Given the description of an element on the screen output the (x, y) to click on. 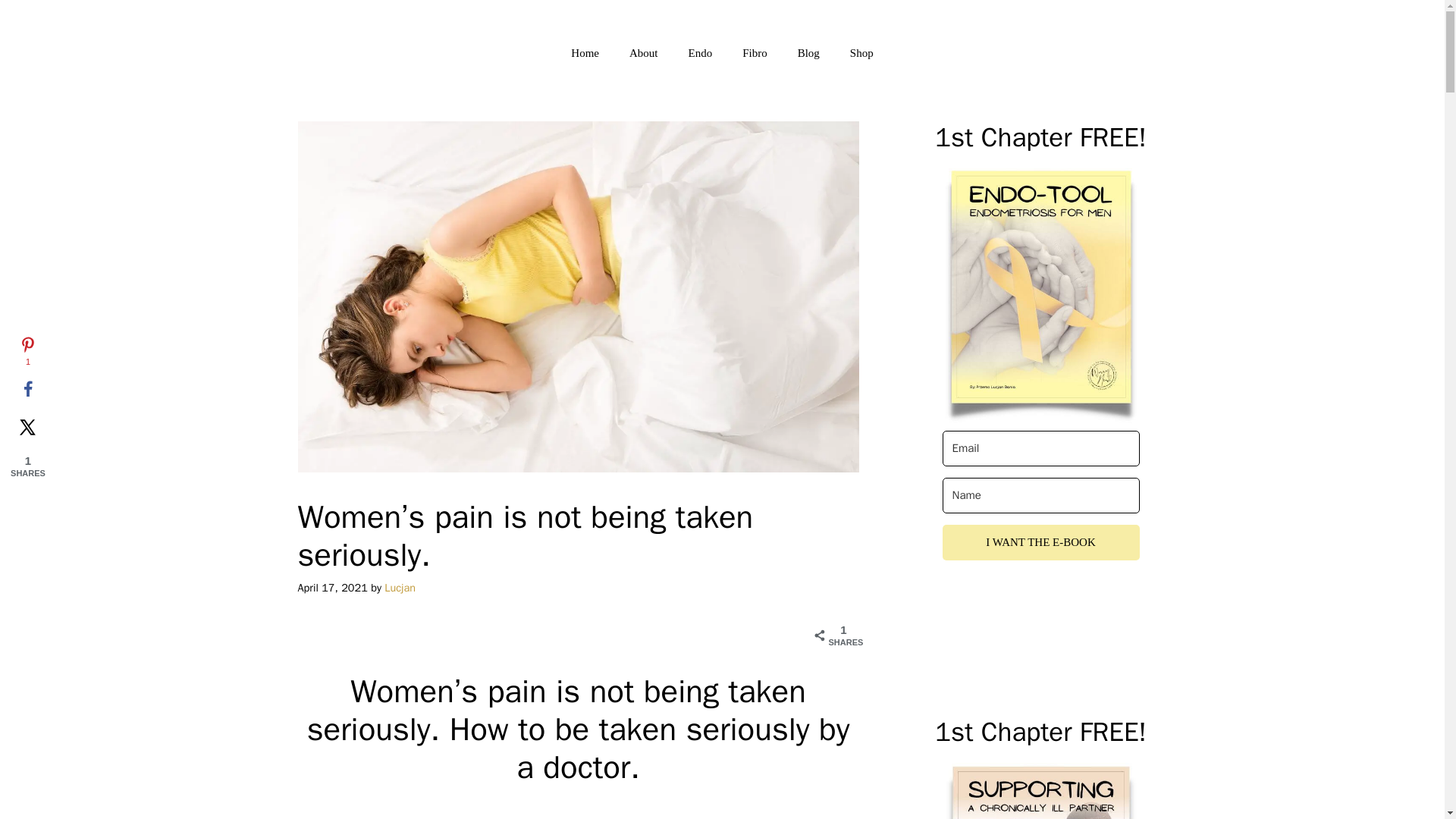
Lucjan (399, 587)
Fibro (754, 53)
Home (585, 53)
I WANT THE E-BOOK (1040, 542)
Save to Pinterest (27, 351)
Endo (699, 53)
Shop (861, 53)
Blog (808, 53)
Share on Facebook (27, 389)
Post Comment (69, 18)
